Given the description of an element on the screen output the (x, y) to click on. 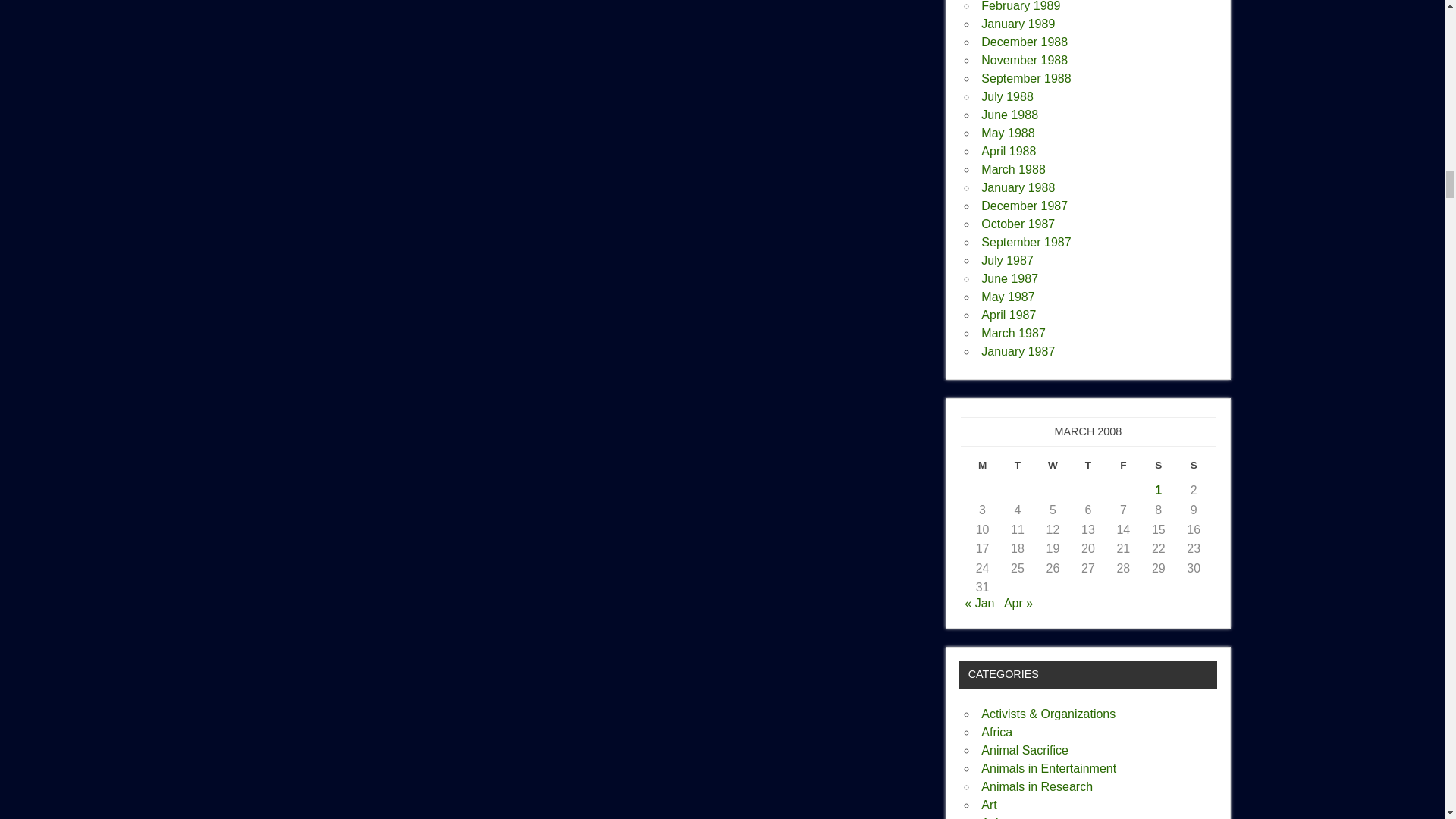
Thursday (1087, 468)
Saturday (1158, 468)
Sunday (1193, 468)
Monday (980, 468)
Friday (1122, 468)
Wednesday (1052, 468)
Tuesday (1017, 468)
